Given the description of an element on the screen output the (x, y) to click on. 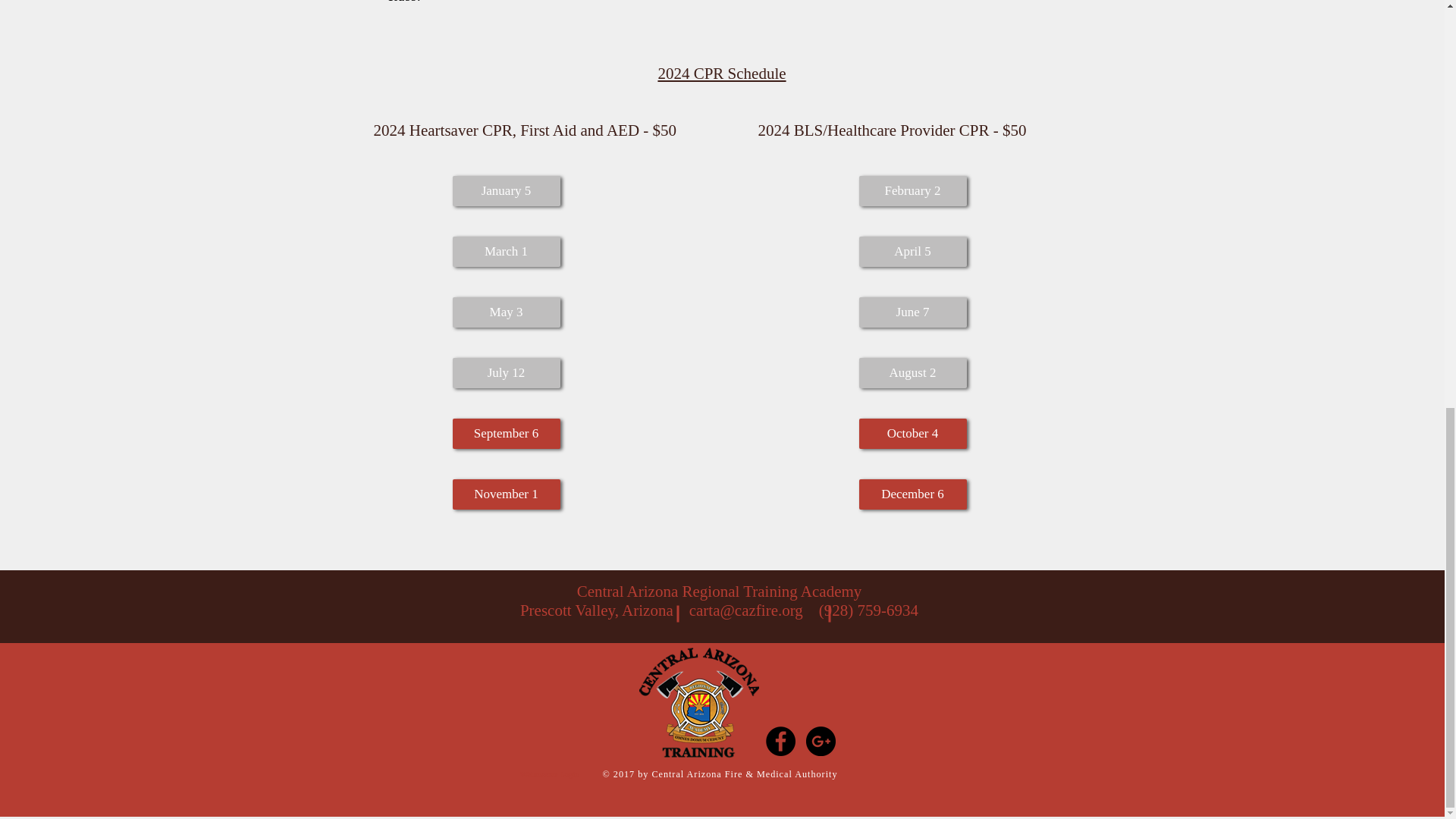
December 6 (912, 494)
Webmaster Login (549, 774)
October 4 (912, 433)
September 6 (505, 433)
November 1 (505, 494)
2024 CPR Schedule (722, 73)
